Given the description of an element on the screen output the (x, y) to click on. 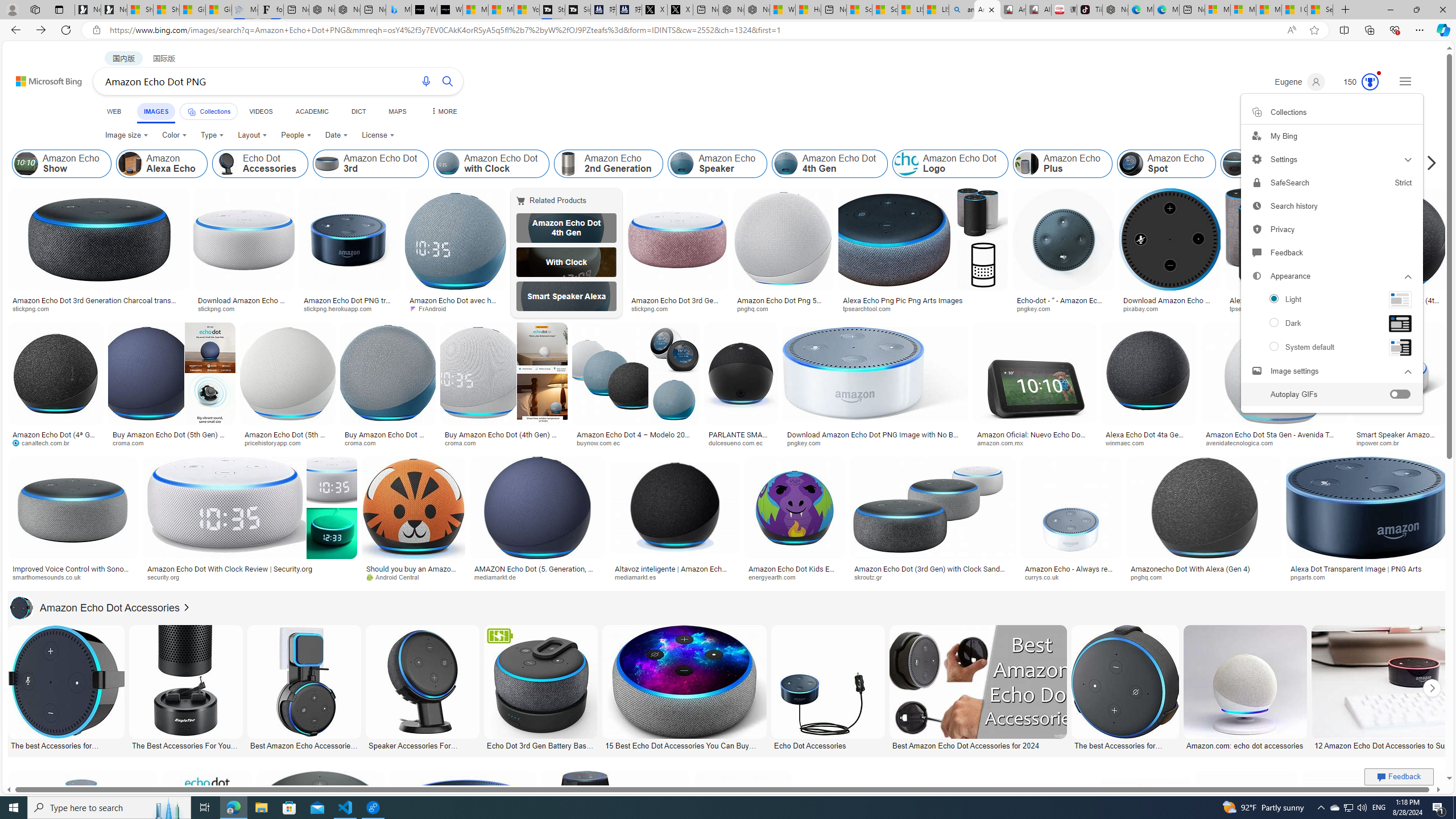
Amazon Echo Dot PNG - Search Images (986, 9)
smarthomesounds.co.uk (50, 576)
Class: item col (1388, 163)
